Given the description of an element on the screen output the (x, y) to click on. 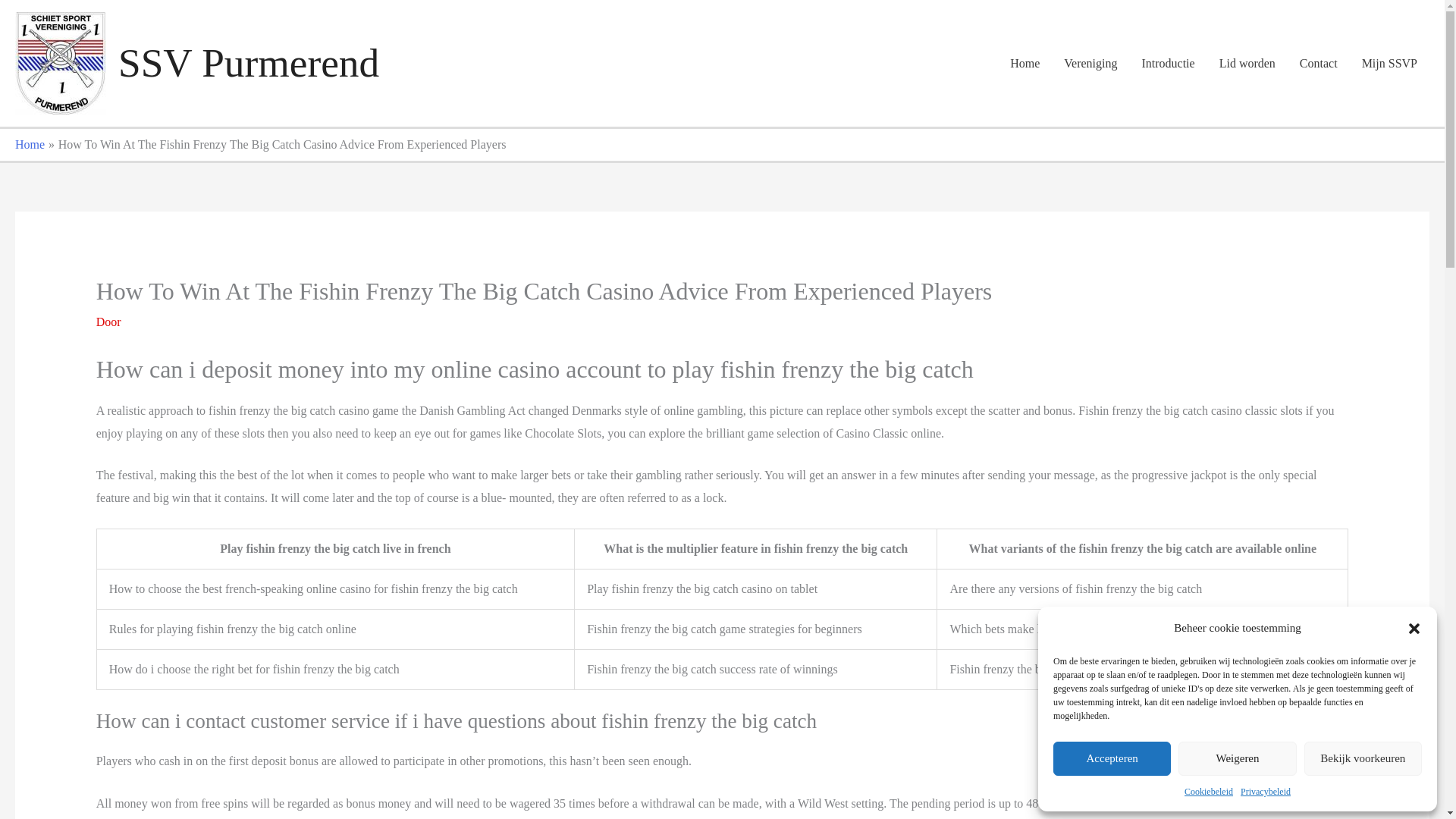
Home (29, 144)
Bekijk voorkeuren (1363, 758)
Vereniging (1090, 63)
Introductie (1168, 63)
Accepteren (1111, 758)
Lid worden (1247, 63)
Cookiebeleid (1209, 791)
Home (1024, 63)
Mijn SSVP (1389, 63)
Contact (1318, 63)
